Given the description of an element on the screen output the (x, y) to click on. 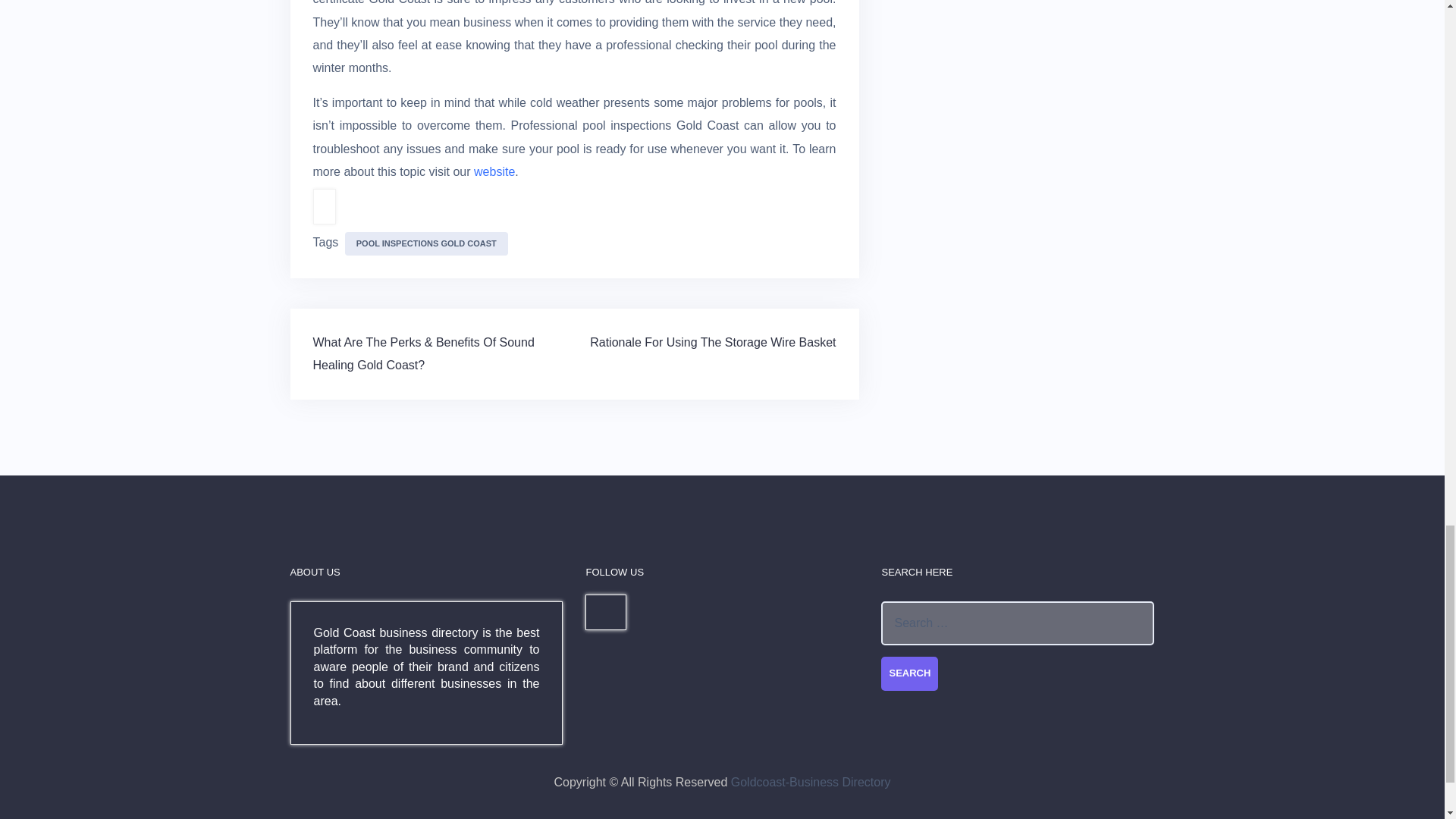
Rationale For Using The Storage Wire Basket (712, 341)
Search (908, 673)
Search (908, 673)
Search (908, 673)
website (494, 171)
POOL INSPECTIONS GOLD COAST (426, 243)
